Given the description of an element on the screen output the (x, y) to click on. 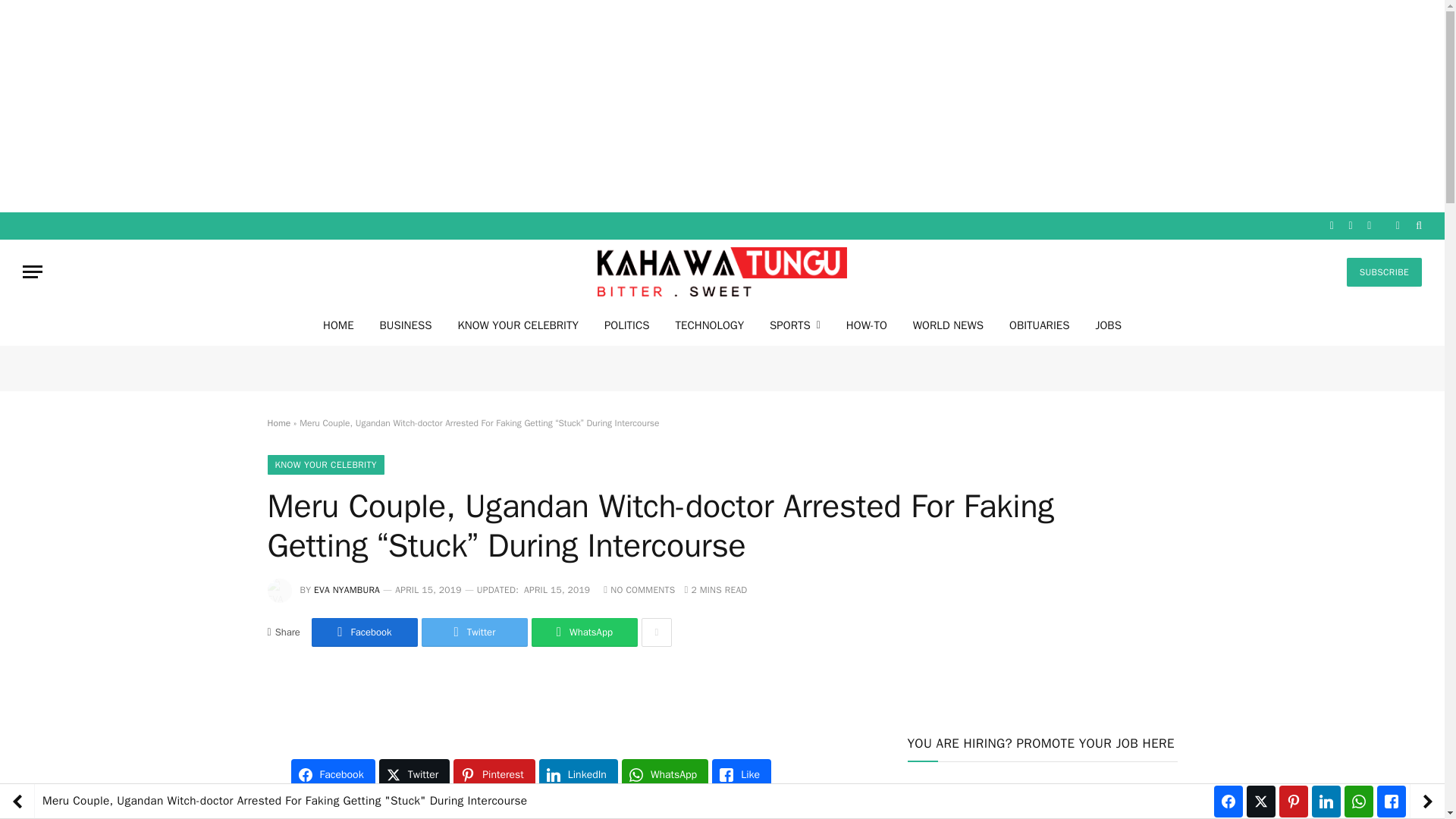
EVA NYAMBURA (347, 589)
Twitter (474, 632)
Switch to Dark Design - easier on eyes. (1397, 225)
Share on Facebook (364, 632)
BUSINESS (405, 324)
SPORTS (794, 324)
Facebook (364, 632)
Posts by Eva Nyambura (347, 589)
Show More Social Sharing (656, 632)
KahawaTungu (721, 271)
WORLD NEWS (947, 324)
HOME (338, 324)
KNOW YOUR CELEBRITY (517, 324)
WhatsApp (584, 632)
OBITUARIES (1038, 324)
